Given the description of an element on the screen output the (x, y) to click on. 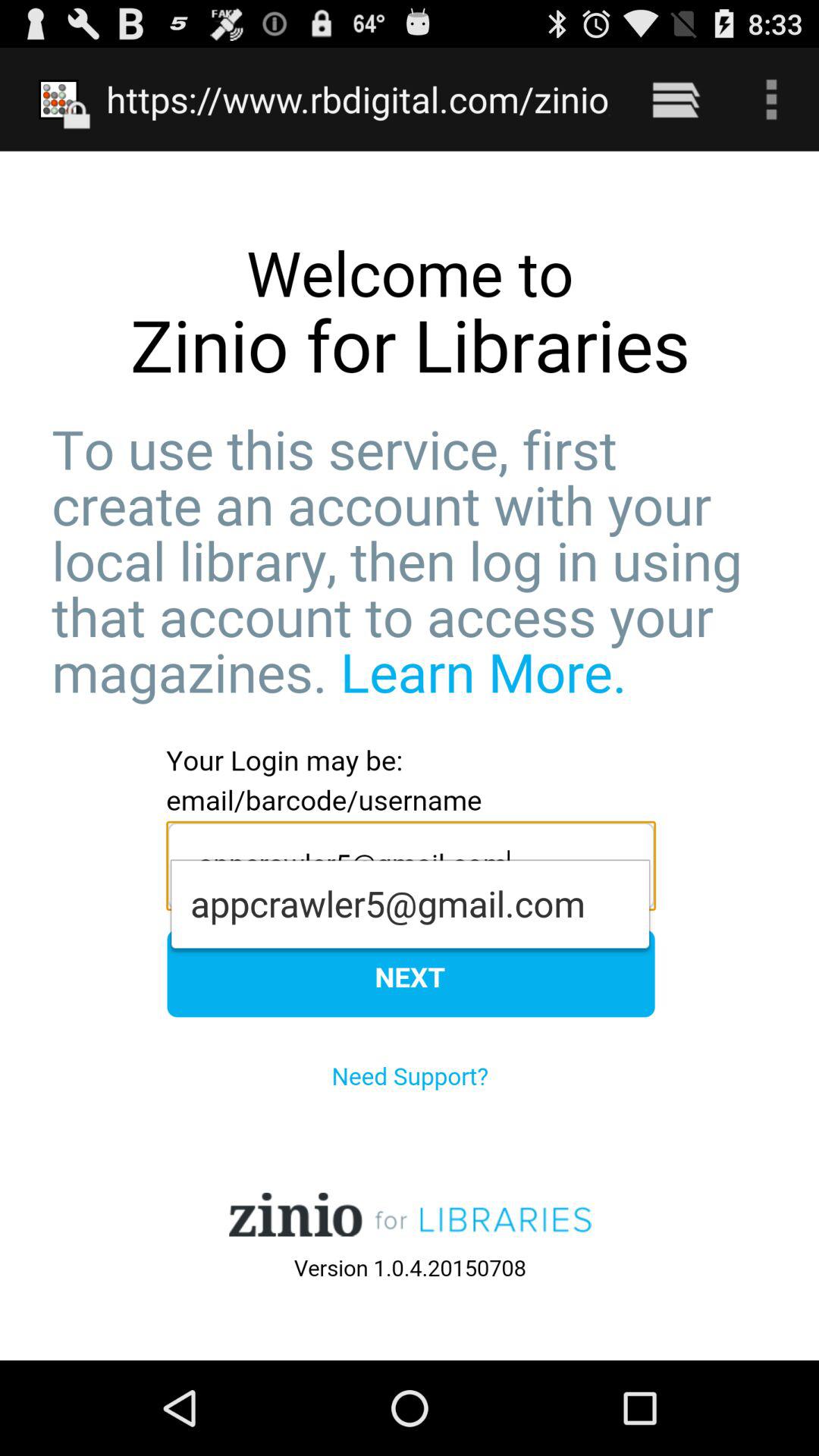
click item next to the https www rbdigital item (675, 99)
